Given the description of an element on the screen output the (x, y) to click on. 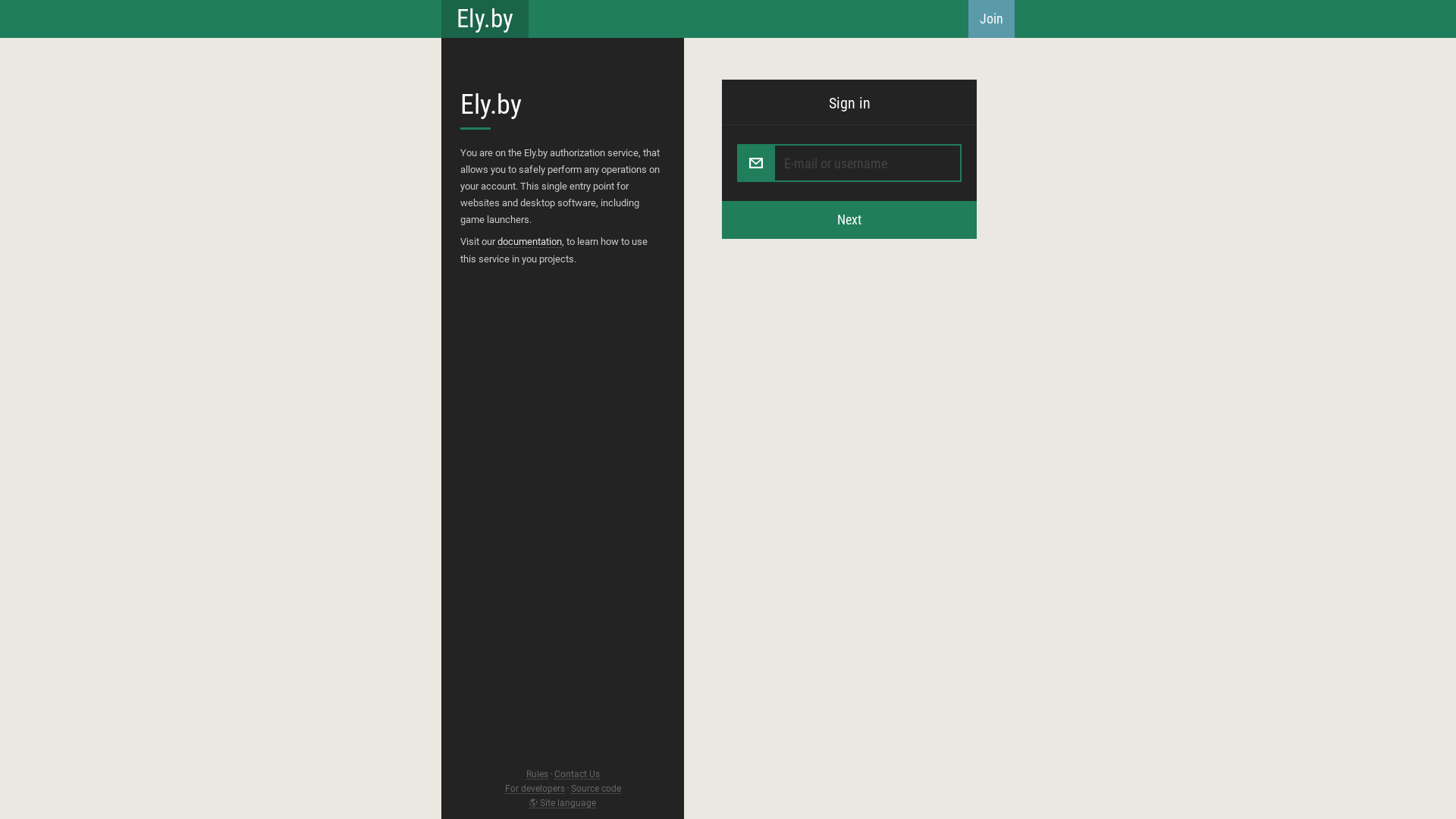
Ely.by Element type: text (484, 18)
Rules Element type: text (537, 774)
Site language Element type: text (562, 803)
Next Element type: text (848, 219)
Source code Element type: text (595, 788)
documentation Element type: text (529, 241)
Contact Us Element type: text (576, 774)
Join Element type: text (991, 18)
For developers Element type: text (534, 788)
